Given the description of an element on the screen output the (x, y) to click on. 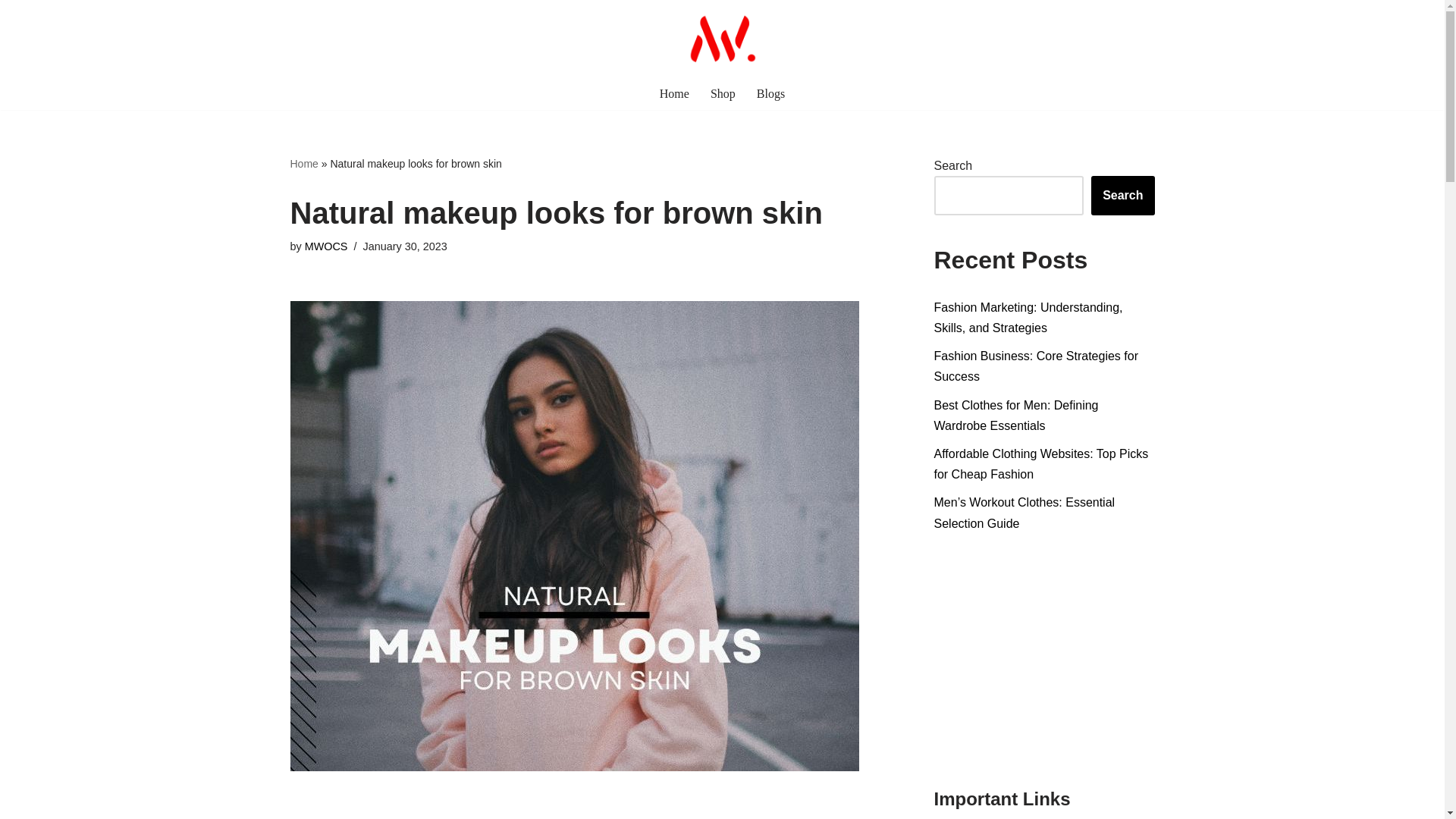
Best Clothes for Men: Defining Wardrobe Essentials (1016, 415)
Home (673, 93)
Fashion Marketing: Understanding, Skills, and Strategies (1028, 317)
Blogs (770, 93)
Posts by MWOCS (325, 246)
Search (1122, 195)
Skip to content (11, 31)
Shop (722, 93)
MWOCS (325, 246)
Home (303, 163)
